Given the description of an element on the screen output the (x, y) to click on. 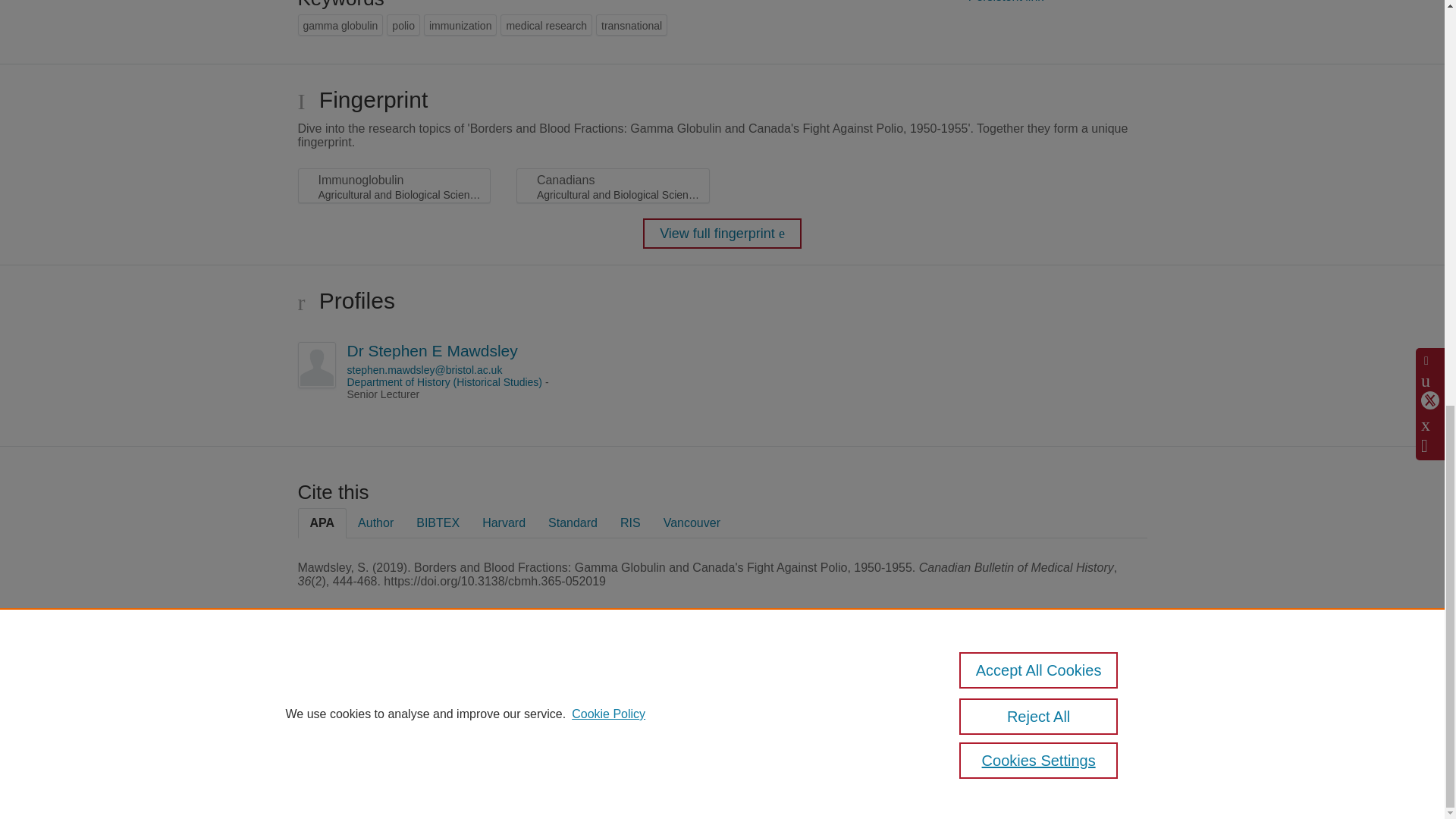
Scopus (394, 686)
Dr Stephen E Mawdsley (432, 350)
Persistent link (1005, 1)
Pure (362, 686)
View full fingerprint (722, 233)
